Given the description of an element on the screen output the (x, y) to click on. 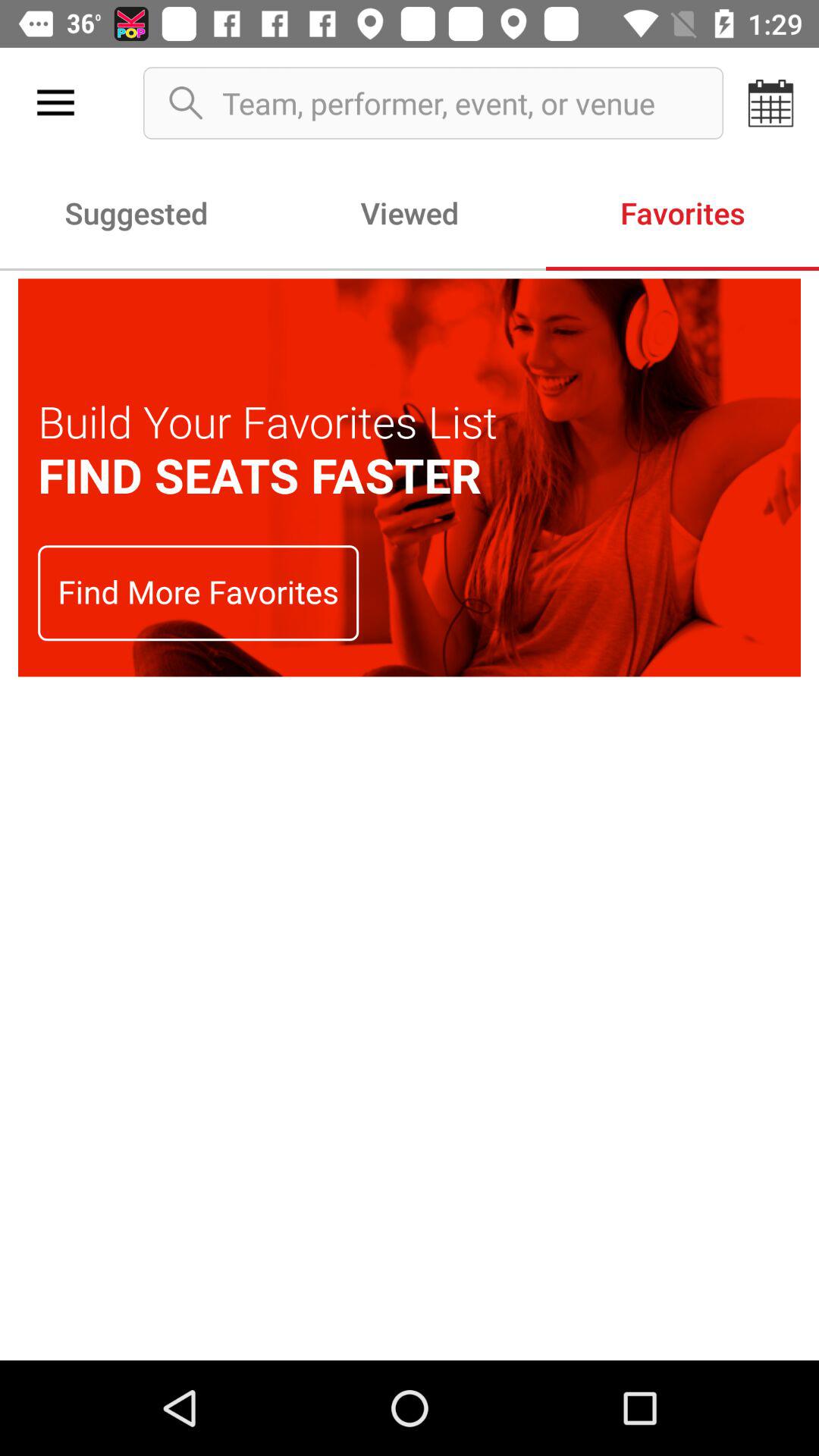
choose the item above favorites (771, 103)
